Given the description of an element on the screen output the (x, y) to click on. 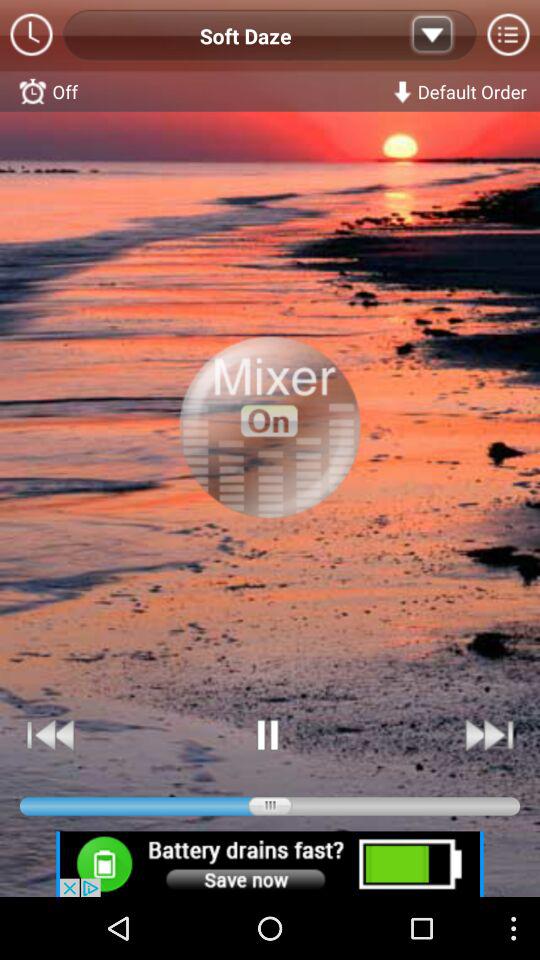
go to menu (508, 35)
